Given the description of an element on the screen output the (x, y) to click on. 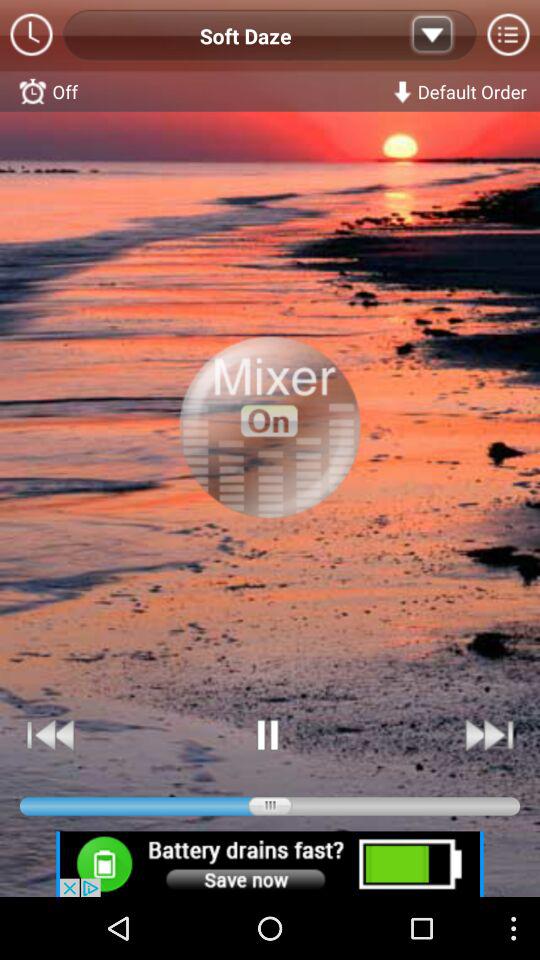
go to menu (508, 35)
